Given the description of an element on the screen output the (x, y) to click on. 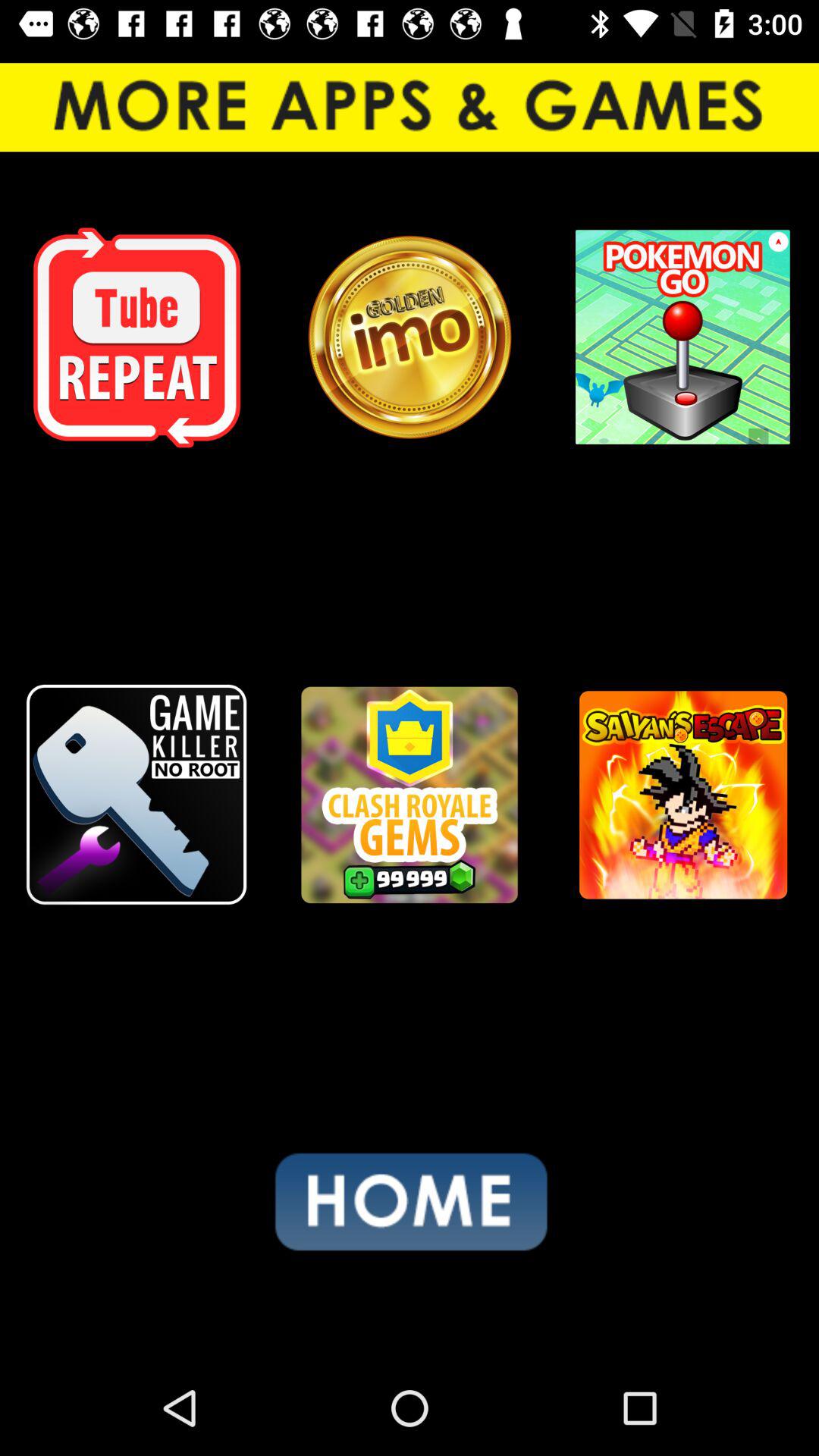
go to clash royale game (409, 794)
